Given the description of an element on the screen output the (x, y) to click on. 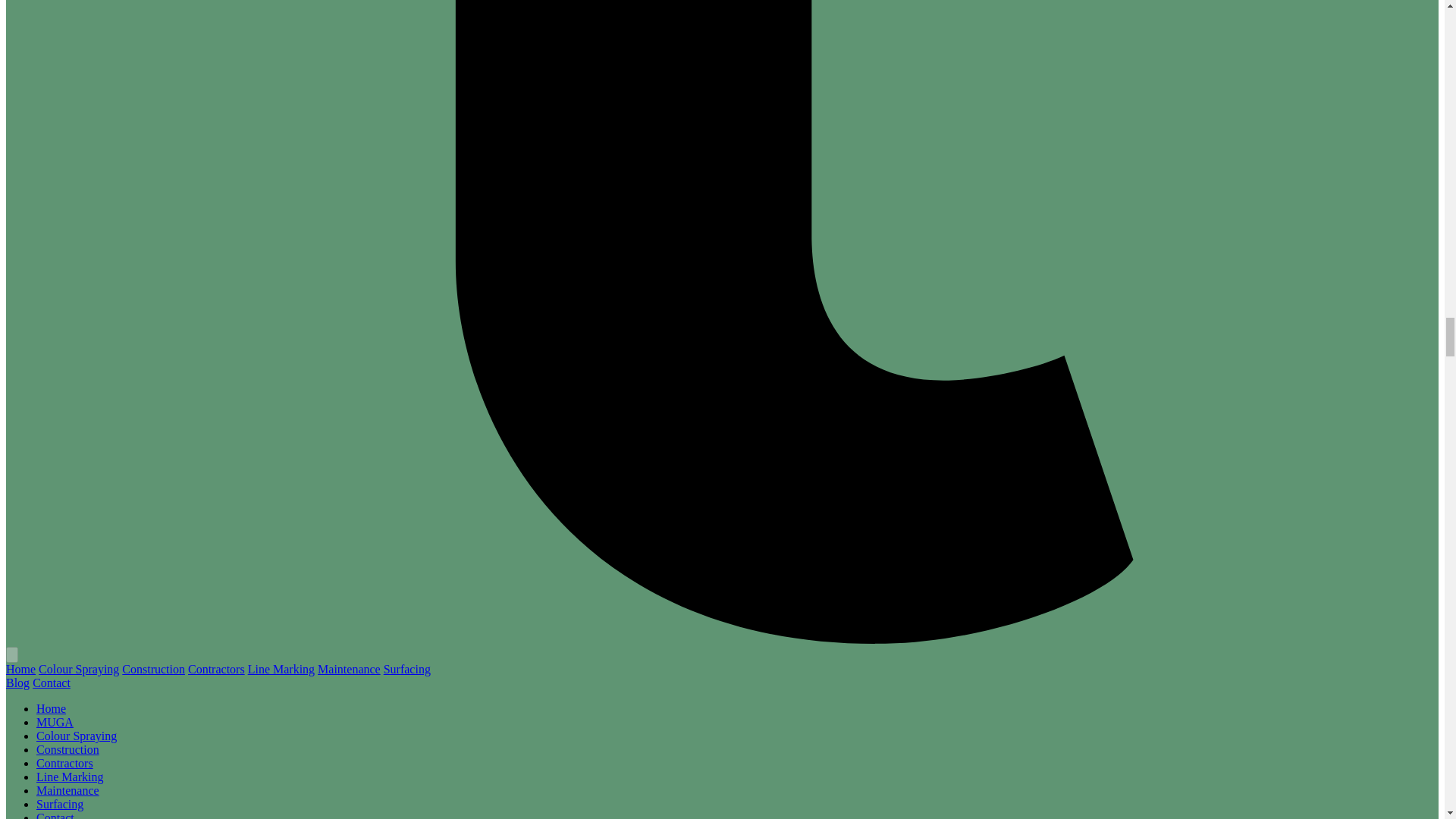
Colour Spraying (79, 668)
Construction (153, 668)
Construction (67, 748)
MUGA (55, 721)
Home (50, 707)
Line Marking (69, 776)
Maintenance (67, 789)
Contact (55, 815)
Contractors (64, 762)
Colour Spraying (76, 735)
Blog (17, 682)
Surfacing (407, 668)
Line Marking (280, 668)
Surfacing (59, 803)
Contractors (215, 668)
